Given the description of an element on the screen output the (x, y) to click on. 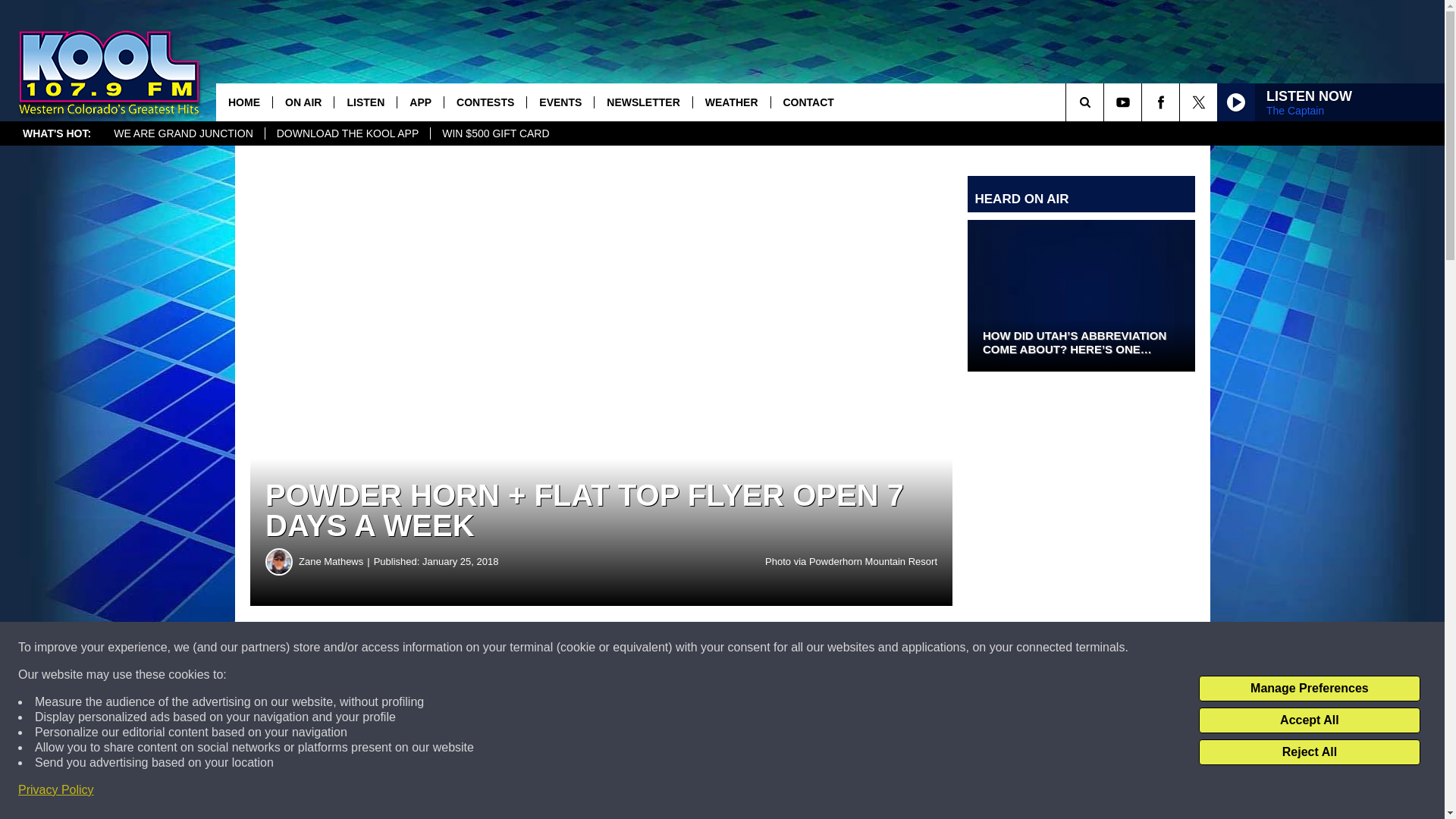
LISTEN (364, 102)
SEARCH (1106, 102)
Privacy Policy (55, 789)
HOME (243, 102)
Share on Twitter (741, 647)
DOWNLOAD THE KOOL APP (347, 133)
Share on Facebook (460, 647)
APP (420, 102)
ON AIR (302, 102)
WE ARE GRAND JUNCTION (182, 133)
